Given the description of an element on the screen output the (x, y) to click on. 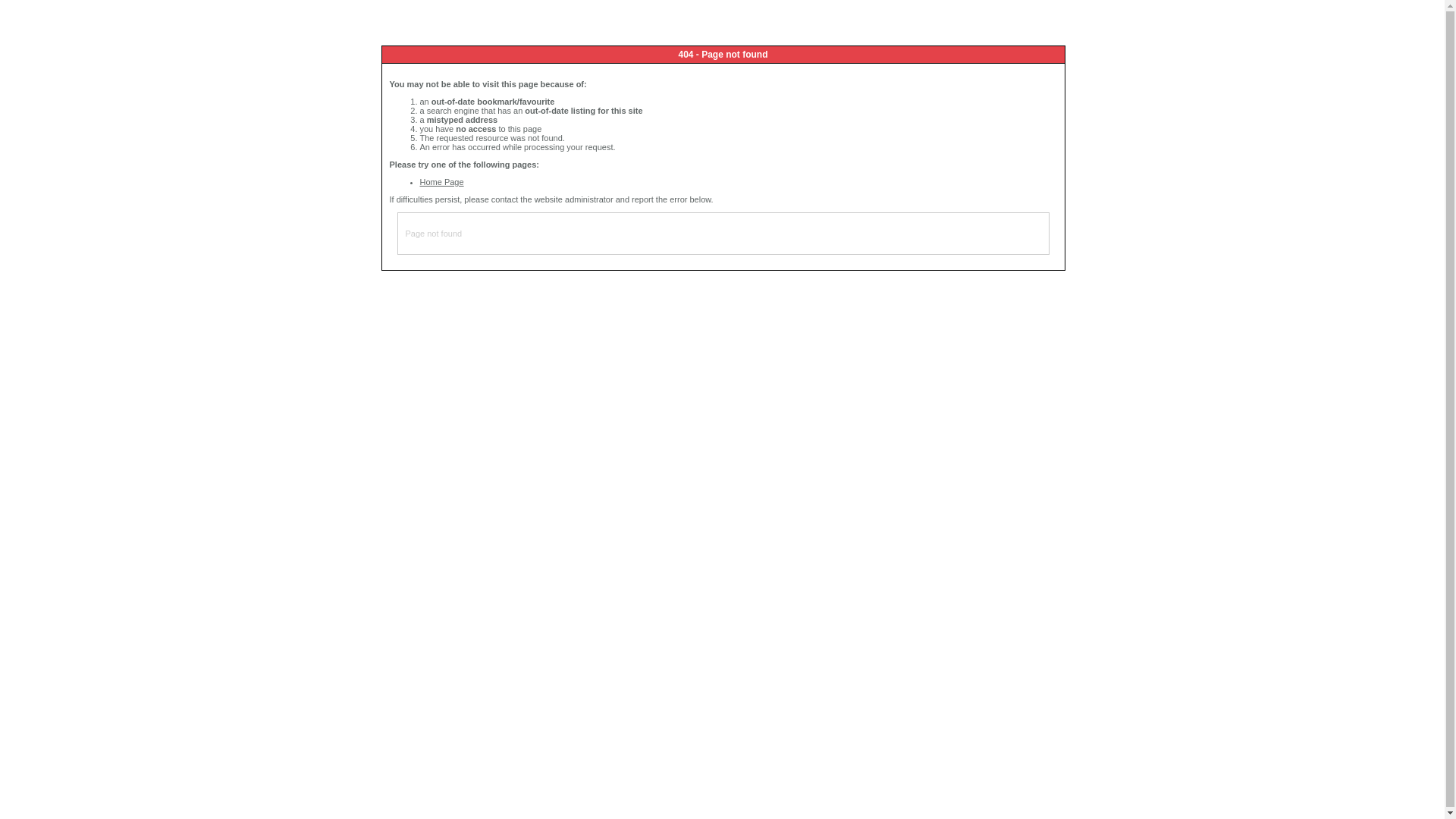
Home Page Element type: text (442, 181)
